Given the description of an element on the screen output the (x, y) to click on. 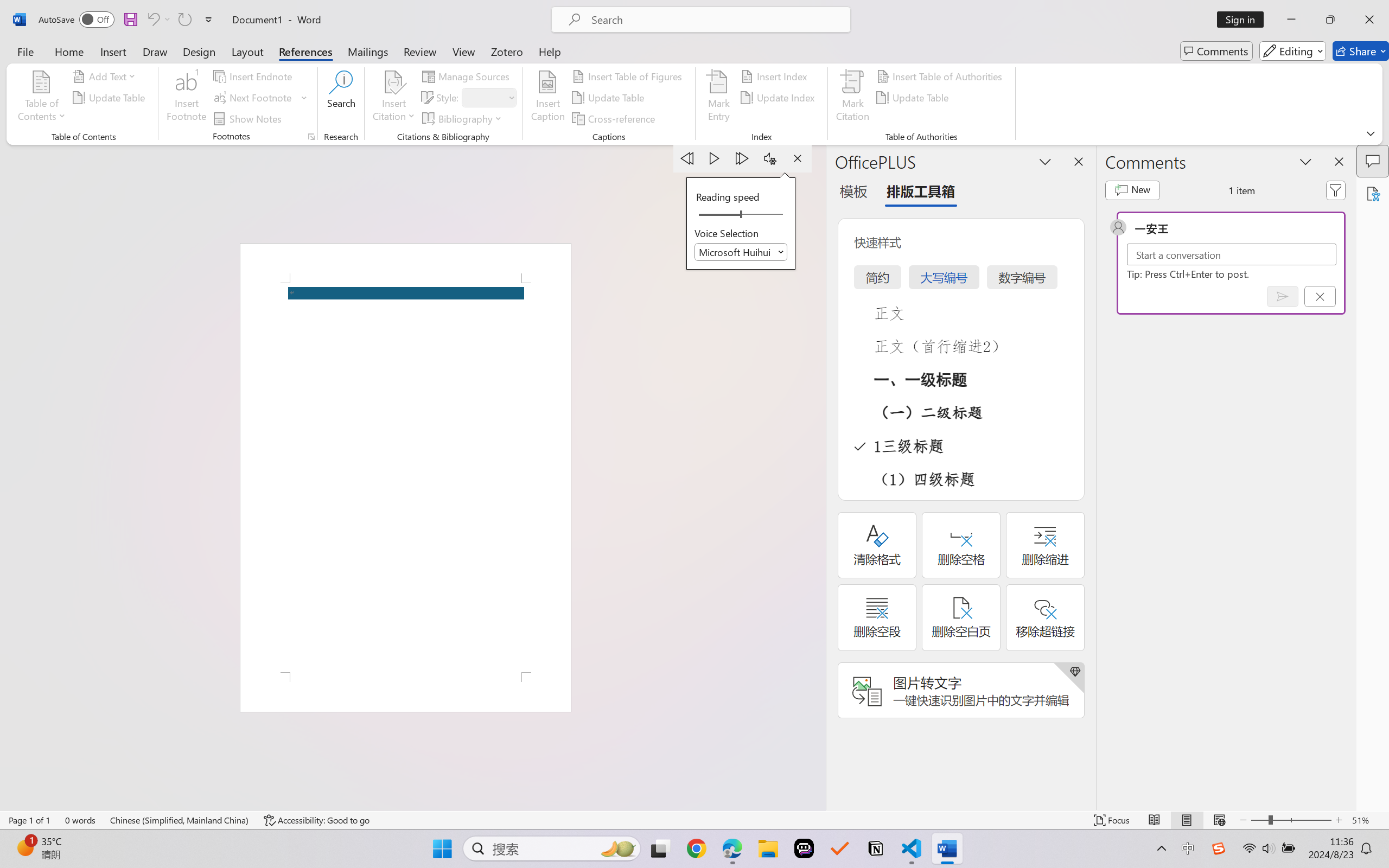
Manage Sources... (467, 75)
Insert Footnote (186, 97)
Accessibility Assistant (1373, 193)
Mark Entry... (718, 97)
Add Text (106, 75)
New comment (1132, 190)
Insert Citation (393, 97)
Insert Table of Authorities... (941, 75)
